Given the description of an element on the screen output the (x, y) to click on. 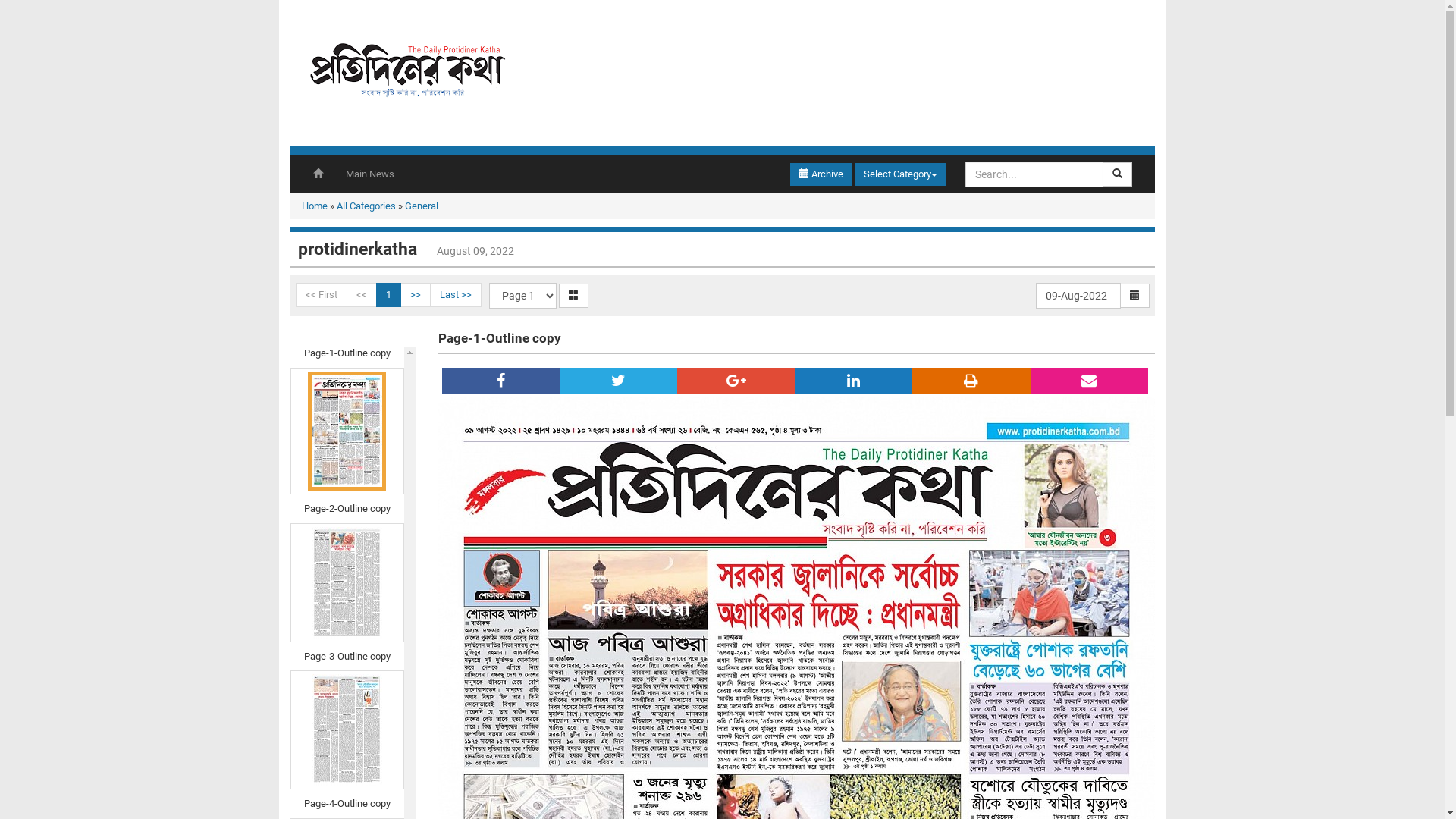
<< First Element type: text (321, 294)
Main News Element type: text (368, 174)
All Categories Element type: text (365, 205)
Archive Element type: text (821, 174)
Select Category Element type: text (899, 174)
Home Element type: text (314, 205)
General Element type: text (421, 205)
Last >> Element type: text (454, 294)
1 Element type: text (388, 294)
>> Element type: text (415, 294)
<< Element type: text (360, 294)
